Given the description of an element on the screen output the (x, y) to click on. 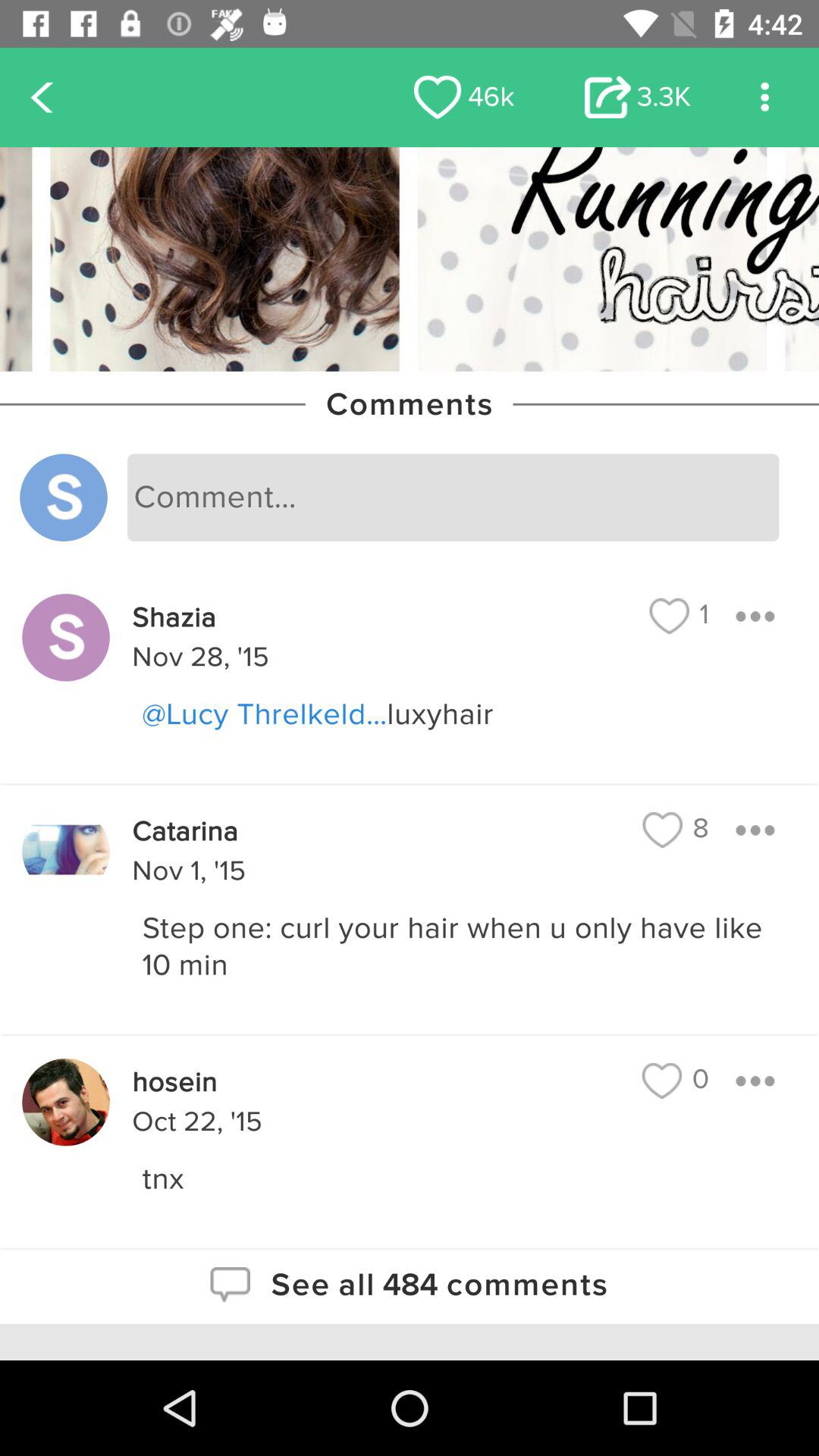
turn off the 8 (675, 830)
